Given the description of an element on the screen output the (x, y) to click on. 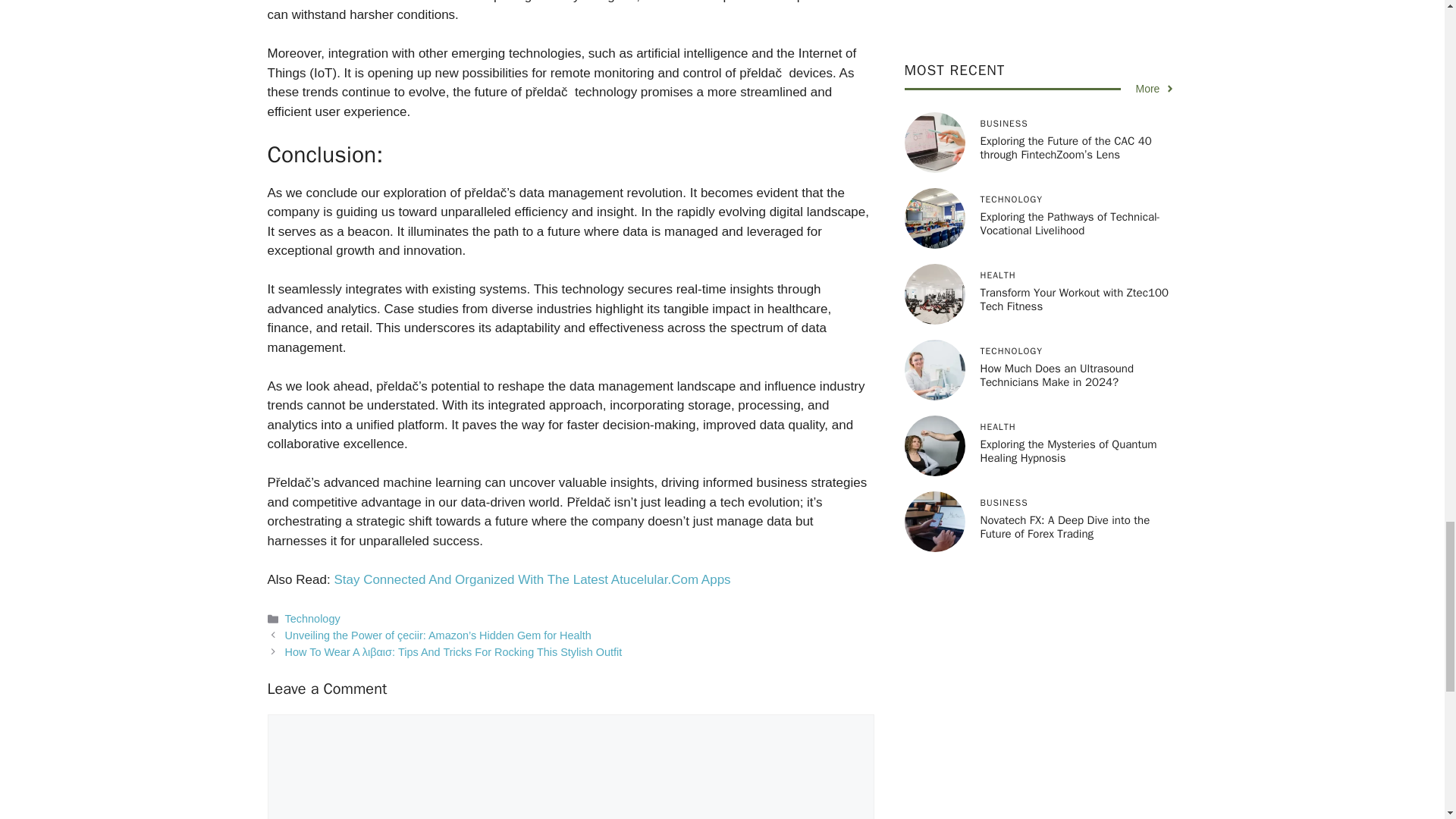
Technology (312, 618)
